Given the description of an element on the screen output the (x, y) to click on. 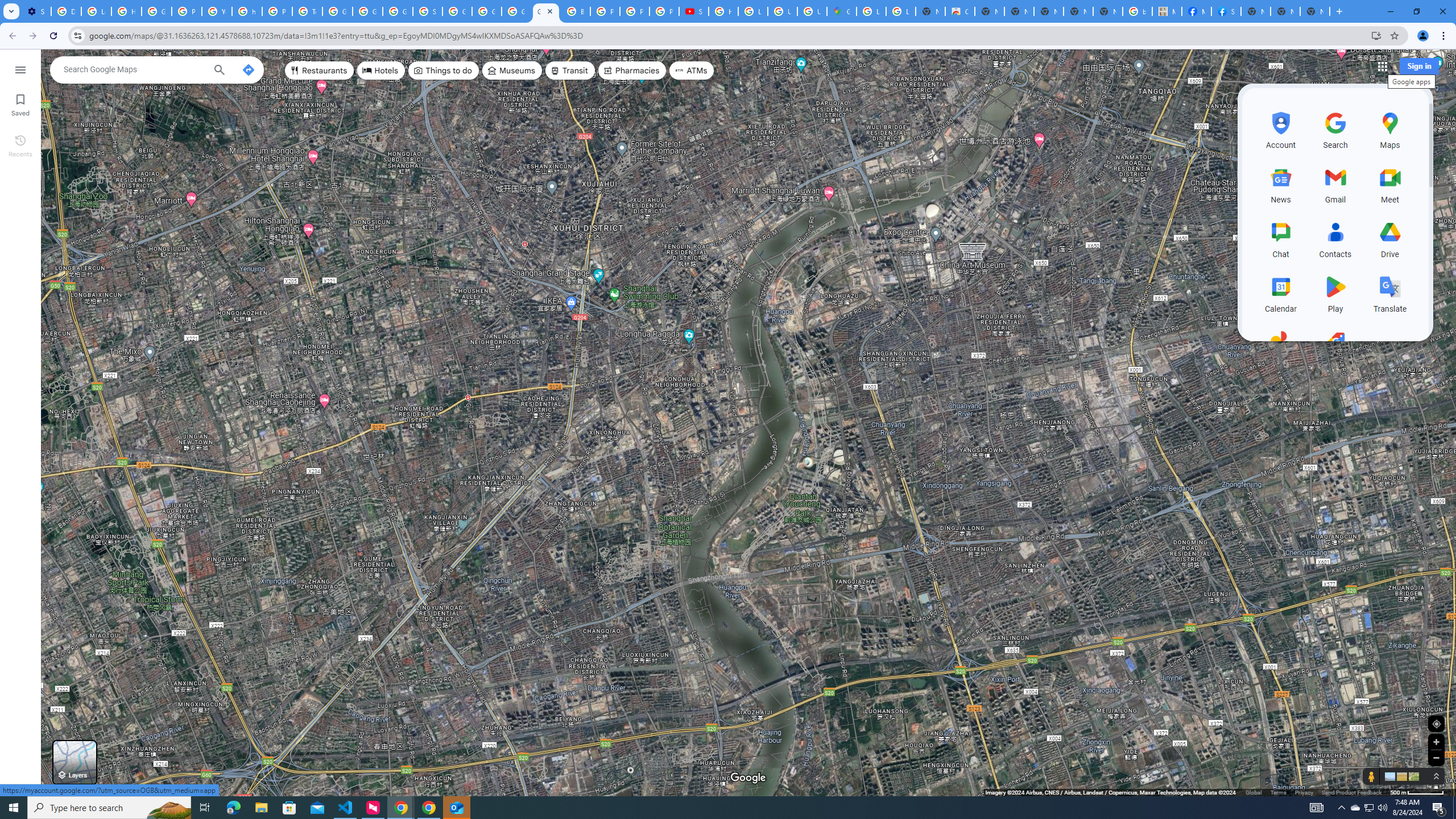
Things to do (443, 70)
Pharmacies (632, 70)
Privacy Help Center - Policies Help (277, 11)
500 m (1417, 792)
Restaurants (319, 70)
Miley Cyrus | Facebook (1196, 11)
Subscriptions - YouTube (693, 11)
Show Your Location (1436, 723)
Chrome Web Store (959, 11)
Privacy Help Center - Policies Help (185, 11)
